Given the description of an element on the screen output the (x, y) to click on. 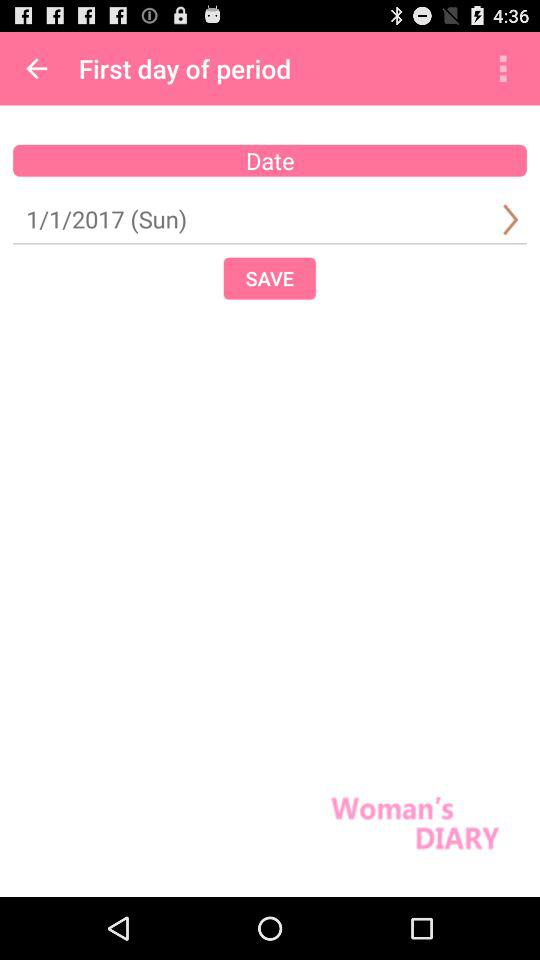
press item above date icon (36, 68)
